Given the description of an element on the screen output the (x, y) to click on. 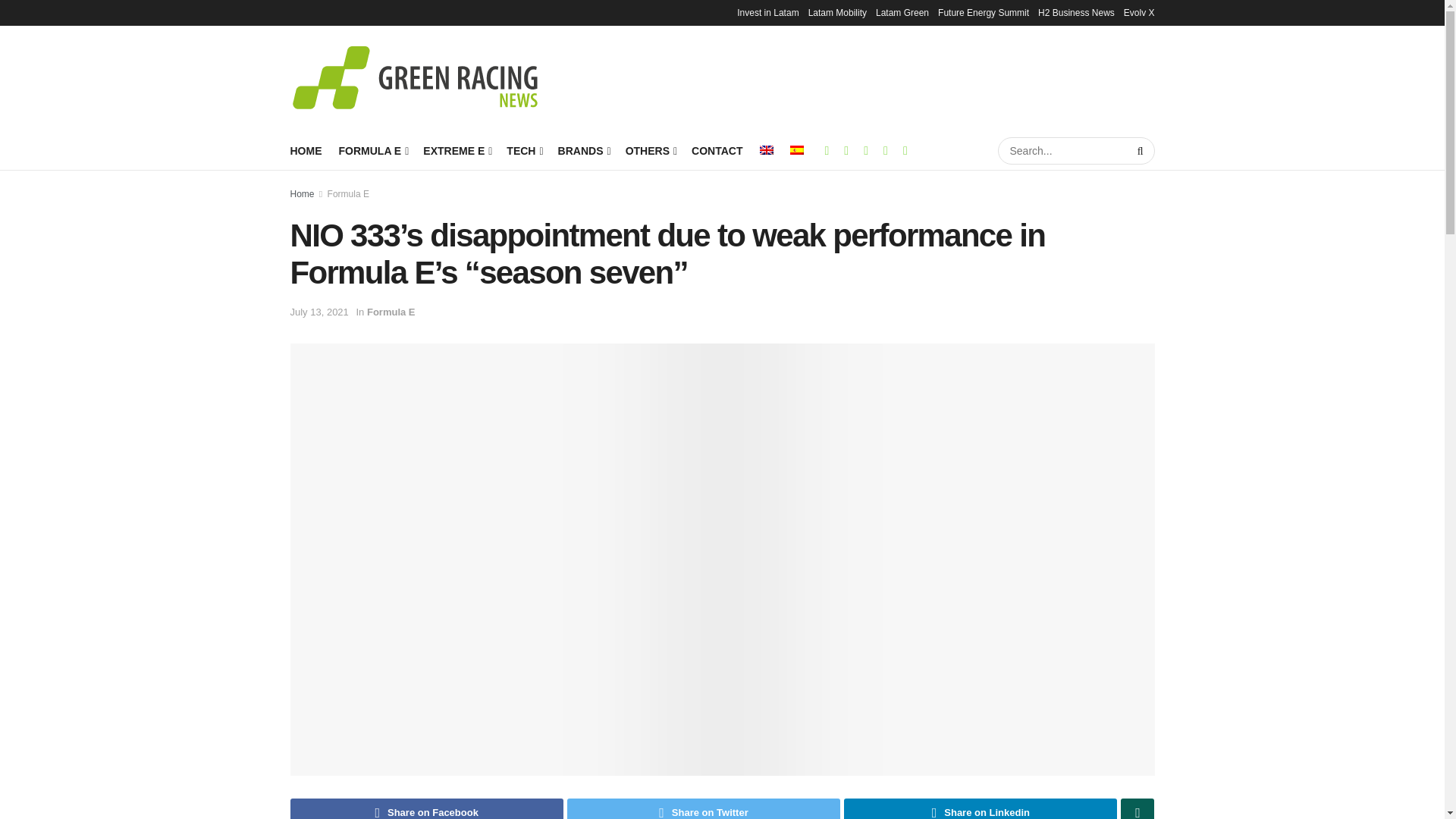
Evolv X (1139, 12)
OTHERS (650, 150)
H2 Business News (1076, 12)
CONTACT (716, 150)
Invest in Latam (766, 12)
Future Energy Summit (983, 12)
EXTREME E (456, 150)
Latam Mobility (837, 12)
BRANDS (582, 150)
TECH (523, 150)
